Given the description of an element on the screen output the (x, y) to click on. 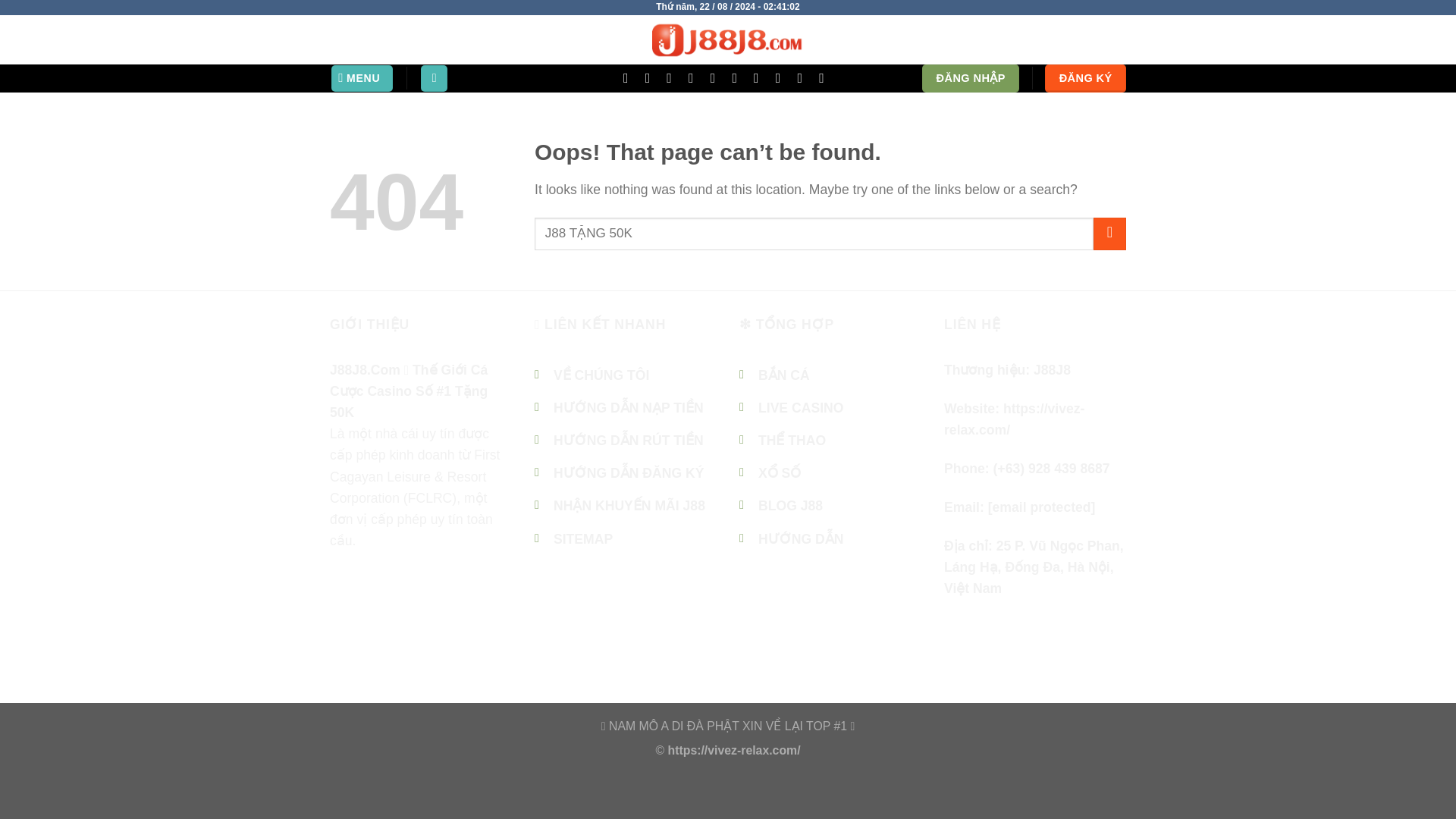
SITEMAP (582, 538)
Follow on Twitter (374, 611)
Call us (435, 611)
Subscribe to RSS (738, 77)
MENU (362, 78)
Follow on Facebook (630, 77)
Follow on 500px (803, 77)
Follow on Twitch (825, 77)
Send us an email (672, 77)
Flickr (782, 77)
